Given the description of an element on the screen output the (x, y) to click on. 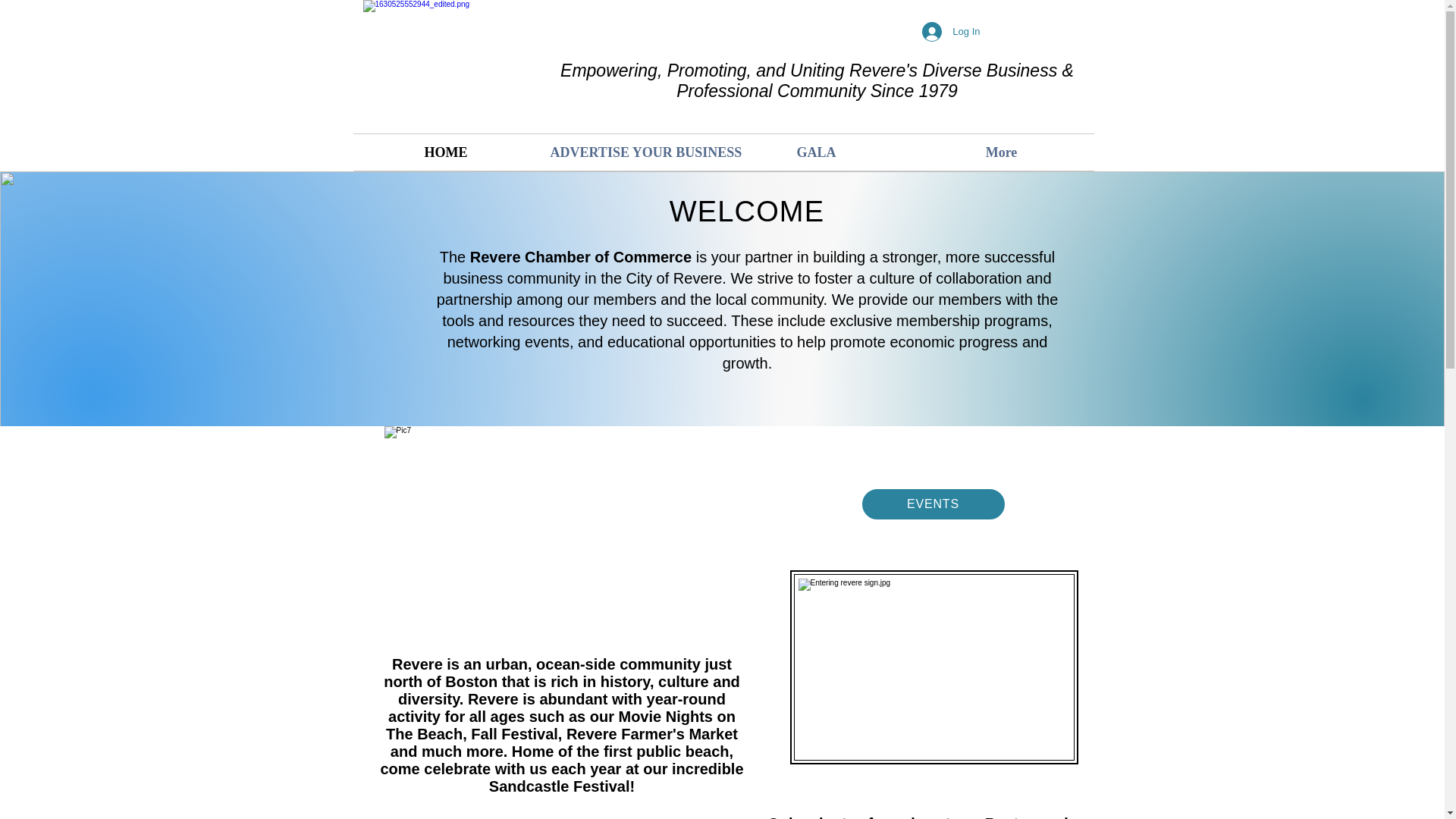
GALA (815, 152)
HOME (445, 152)
EVENTS (932, 503)
ADVERTISE YOUR BUSINESS (630, 152)
Log In (950, 31)
